Given the description of an element on the screen output the (x, y) to click on. 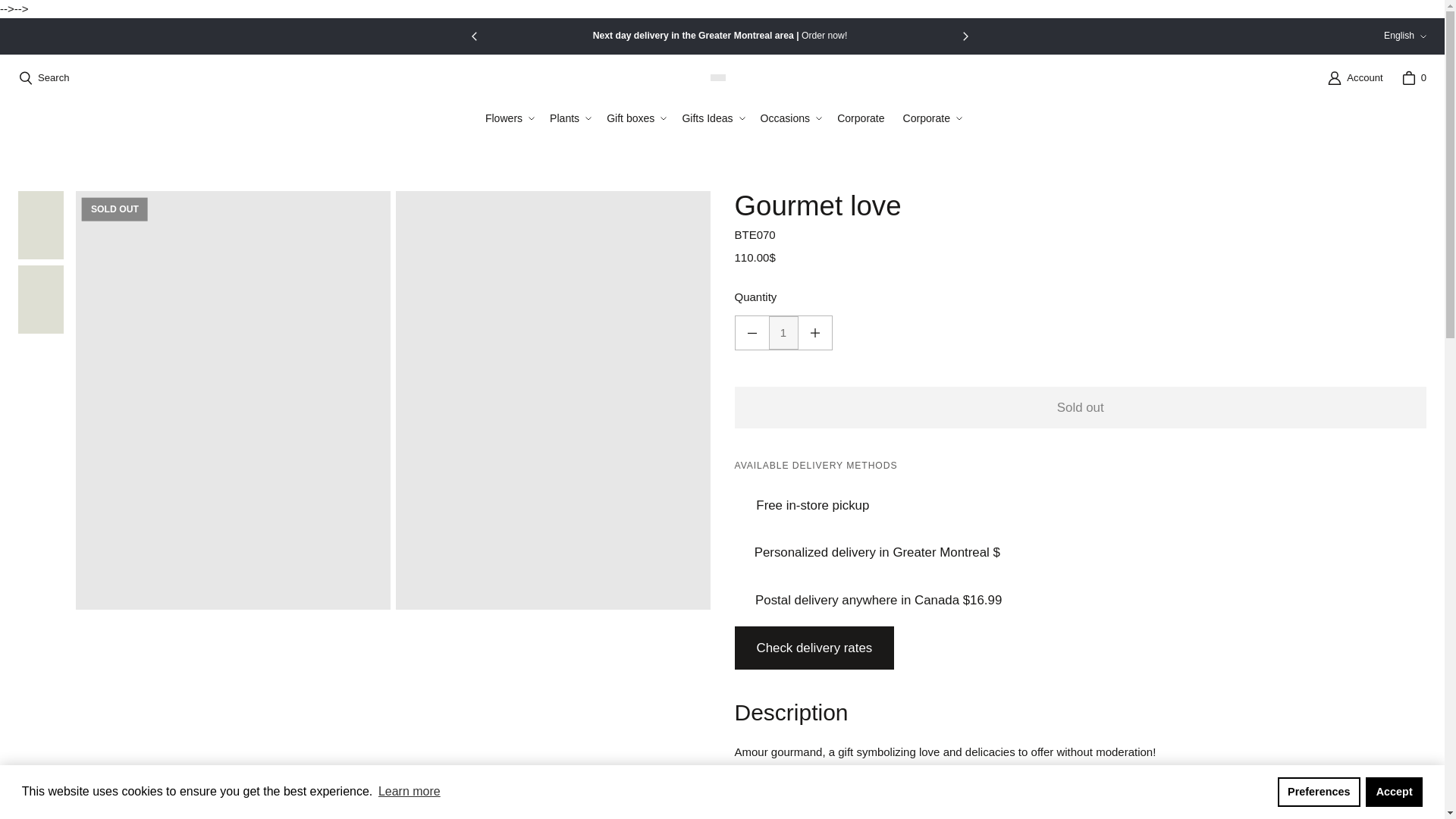
Accept (1393, 791)
English (1404, 36)
Preferences (1318, 791)
Learn more (408, 791)
